Given the description of an element on the screen output the (x, y) to click on. 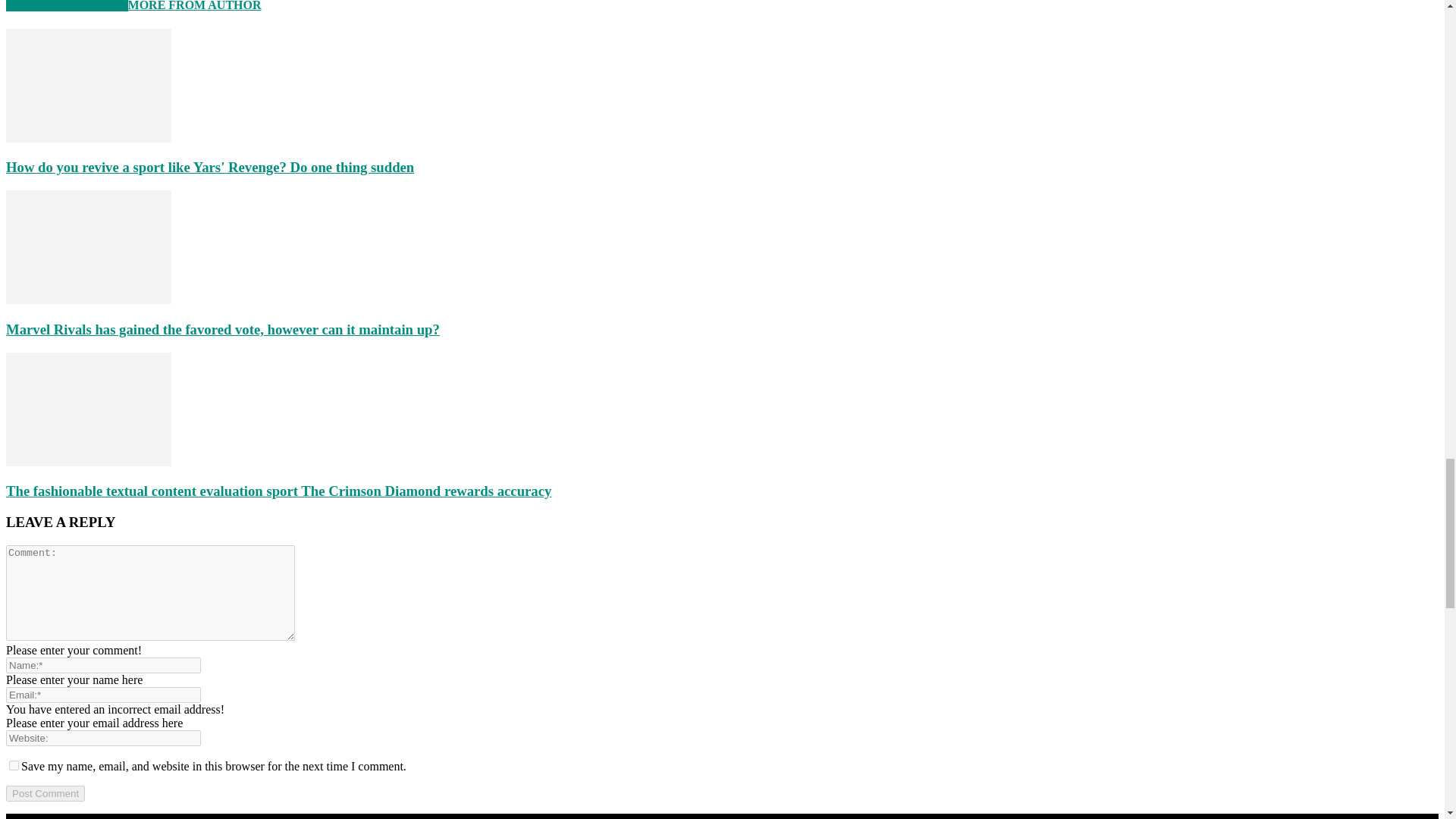
yes (13, 765)
Post Comment (44, 793)
